Given the description of an element on the screen output the (x, y) to click on. 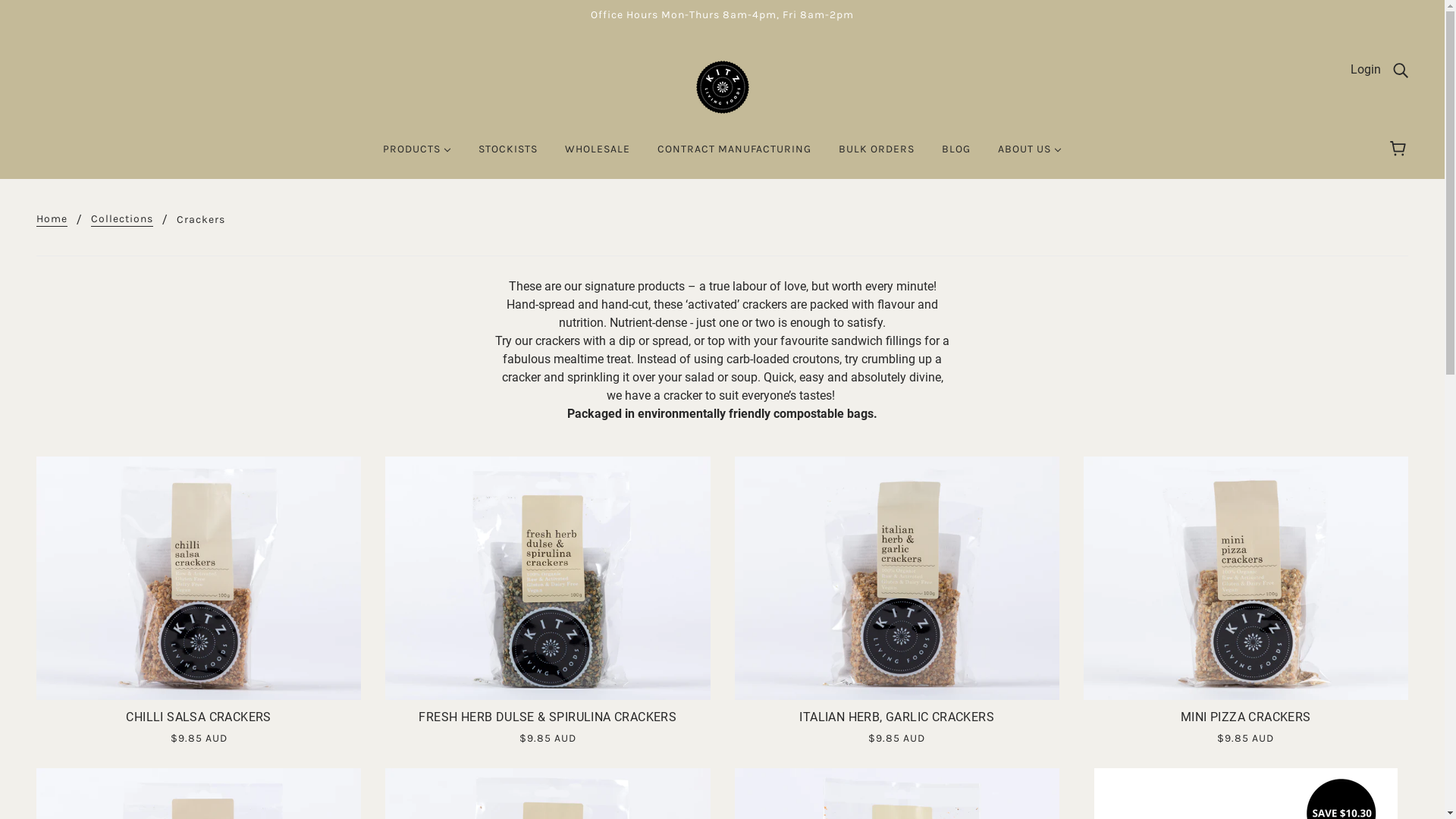
STOCKISTS Element type: text (507, 154)
BLOG Element type: text (955, 154)
Home Element type: text (51, 219)
$9.85 AUD Element type: text (198, 737)
$9.85 AUD Element type: text (1245, 737)
$9.85 AUD Element type: text (547, 737)
PRODUCTS Element type: text (416, 154)
MINI PIZZA CRACKERS Element type: text (1245, 721)
FRESH HERB DULSE & SPIRULINA CRACKERS Element type: text (547, 721)
ABOUT US Element type: text (1029, 154)
BULK ORDERS Element type: text (876, 154)
Kitz Living Foods Element type: hover (722, 85)
CONTRACT MANUFACTURING Element type: text (734, 154)
WHOLESALE Element type: text (597, 154)
Login Element type: text (1365, 69)
ITALIAN HERB, GARLIC CRACKERS Element type: text (896, 721)
Collections Element type: text (122, 219)
CHILLI SALSA CRACKERS Element type: text (198, 721)
$9.85 AUD Element type: text (896, 737)
